Given the description of an element on the screen output the (x, y) to click on. 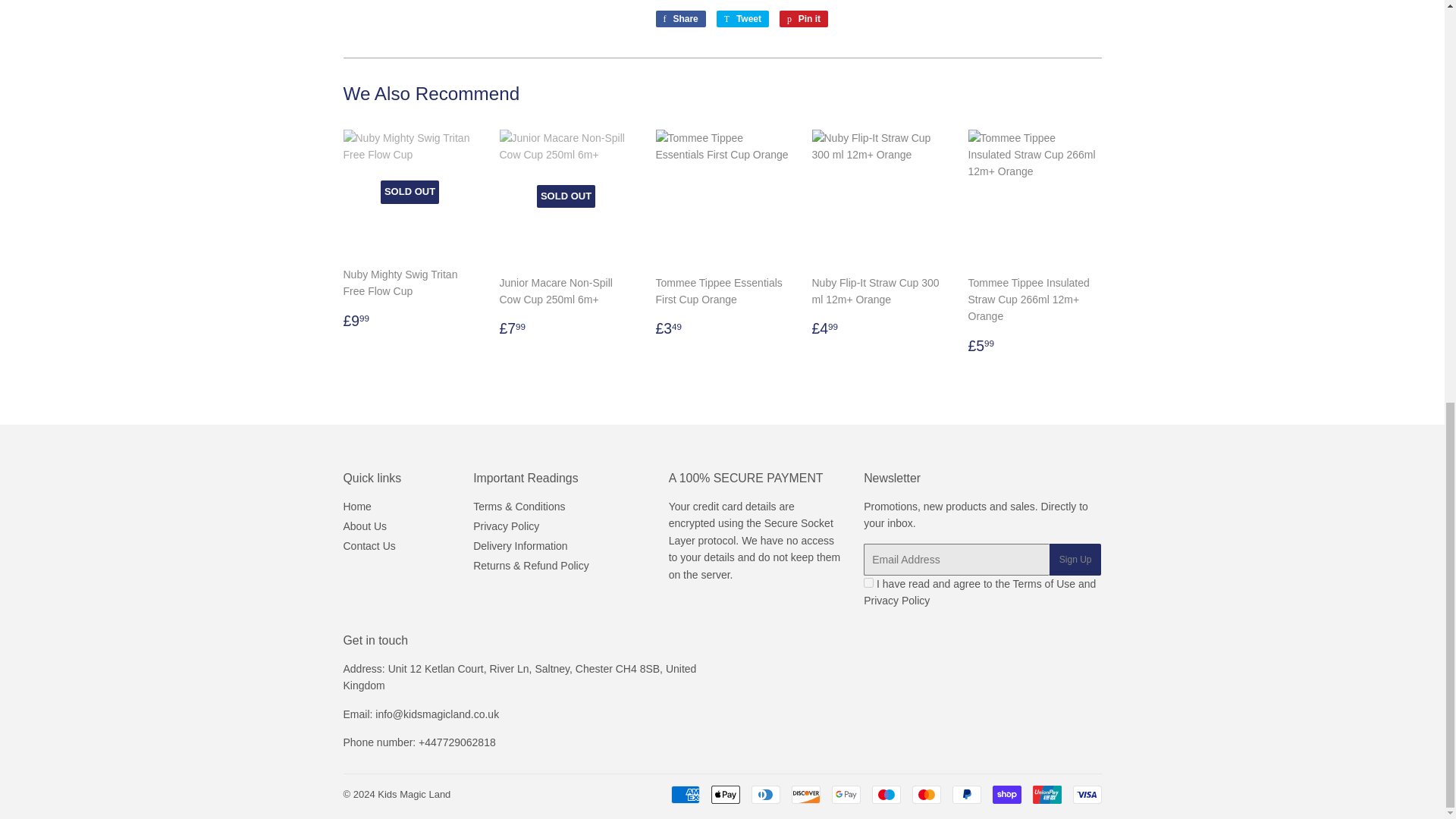
American Express (683, 794)
PayPal (966, 794)
Shop Pay (1005, 794)
Mastercard (925, 794)
Pin on Pinterest (803, 18)
Diners Club (764, 794)
Apple Pay (725, 794)
Discover (806, 794)
Tweet on Twitter (742, 18)
Union Pay (1046, 794)
